Given the description of an element on the screen output the (x, y) to click on. 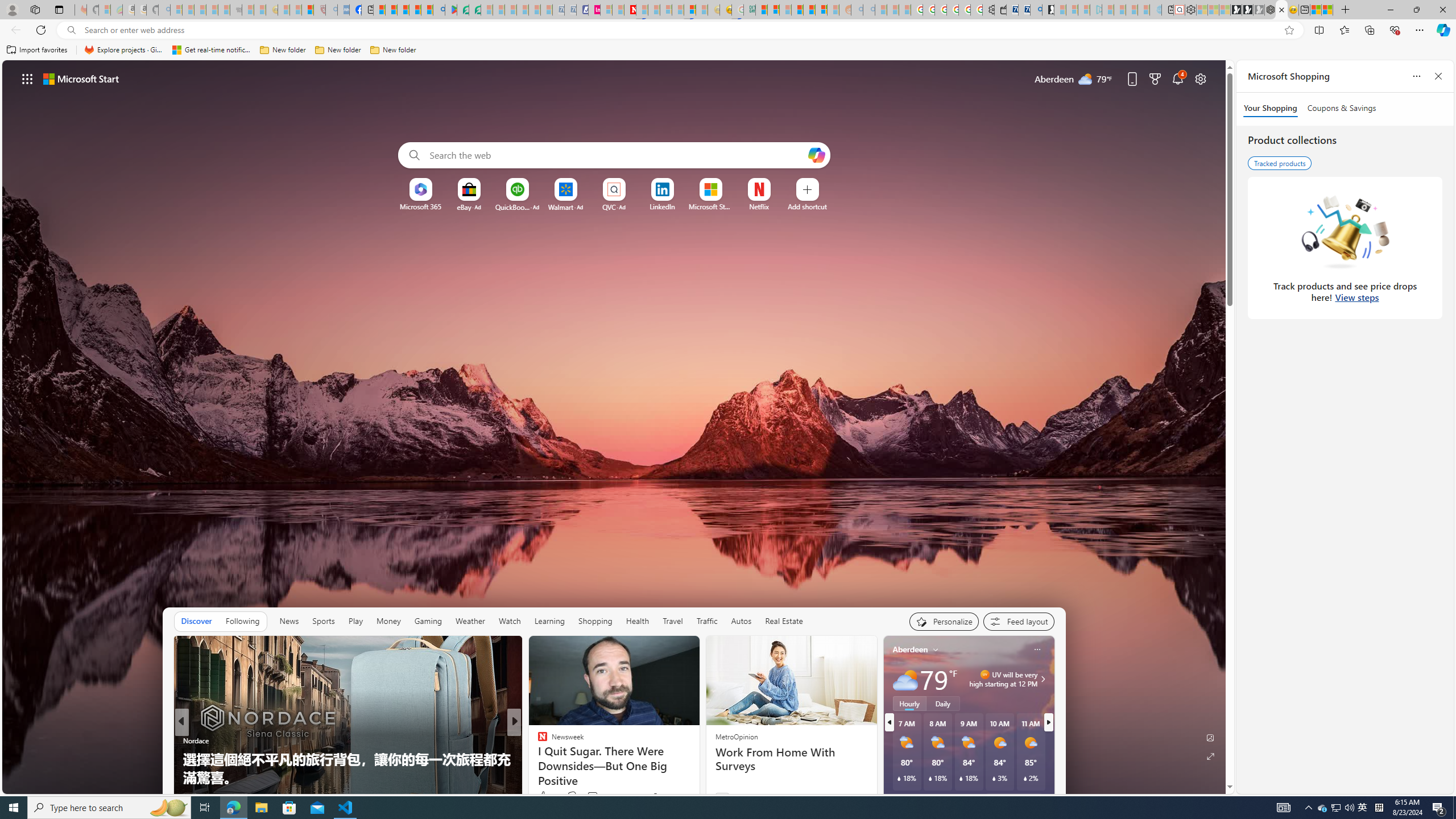
Health (637, 621)
Jobs - lastminute.com Investor Portal (594, 9)
Traffic (706, 621)
Daily (942, 703)
Cheap Car Rentals - Save70.com (1024, 9)
AutomationID: backgroundImagePicture (613, 426)
